Given the description of an element on the screen output the (x, y) to click on. 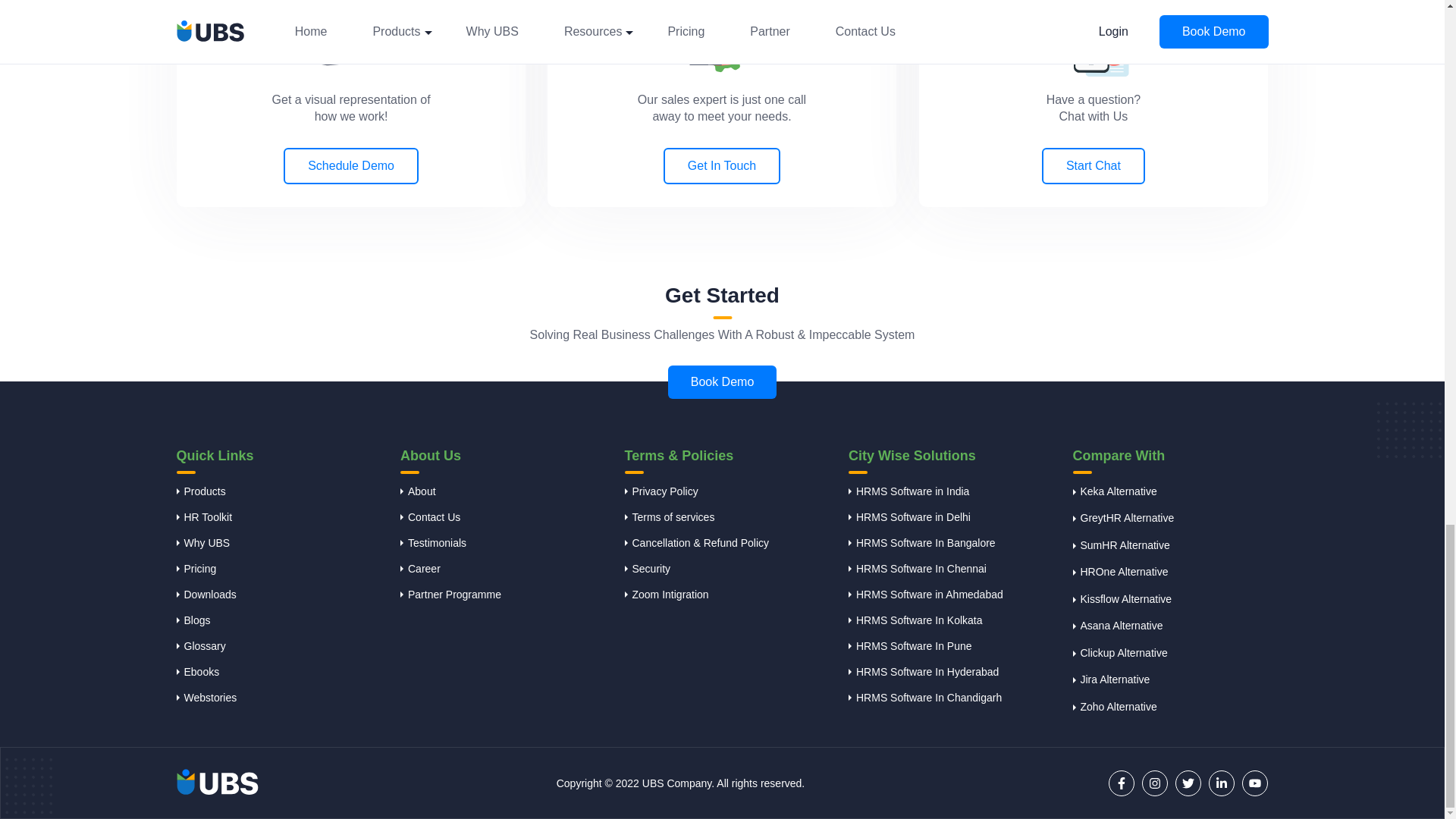
UBS (217, 782)
Watch a Demo (350, 33)
Start Chat (1093, 38)
Get in Touch (722, 36)
